Given the description of an element on the screen output the (x, y) to click on. 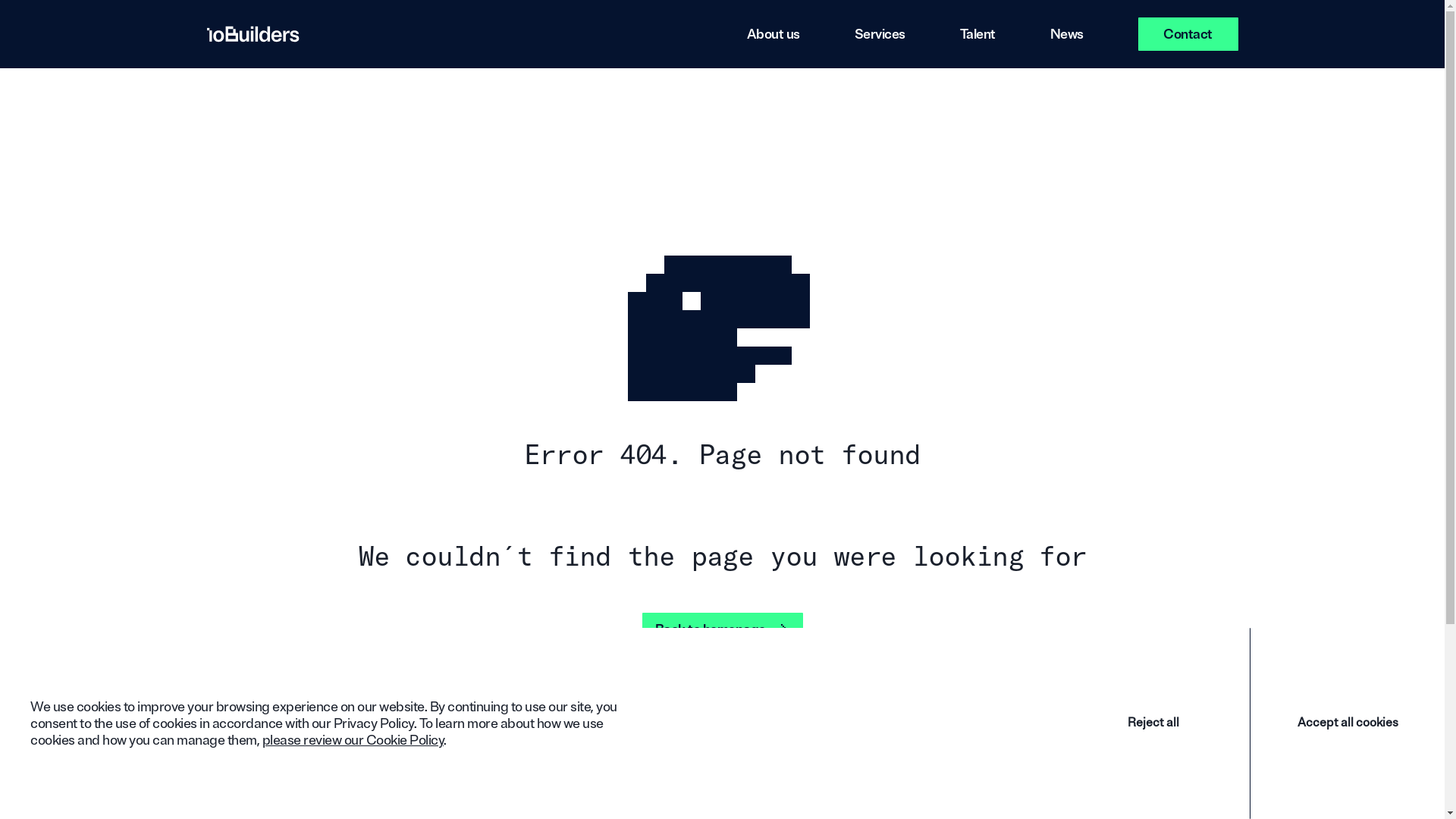
please review our Cookie Policy Element type: text (353, 739)
About us Element type: text (772, 33)
Contact Element type: text (1187, 33)
News Element type: text (1065, 33)
Talent Element type: text (977, 33)
Services Element type: text (878, 33)
Back to homepage Element type: text (721, 629)
